Given the description of an element on the screen output the (x, y) to click on. 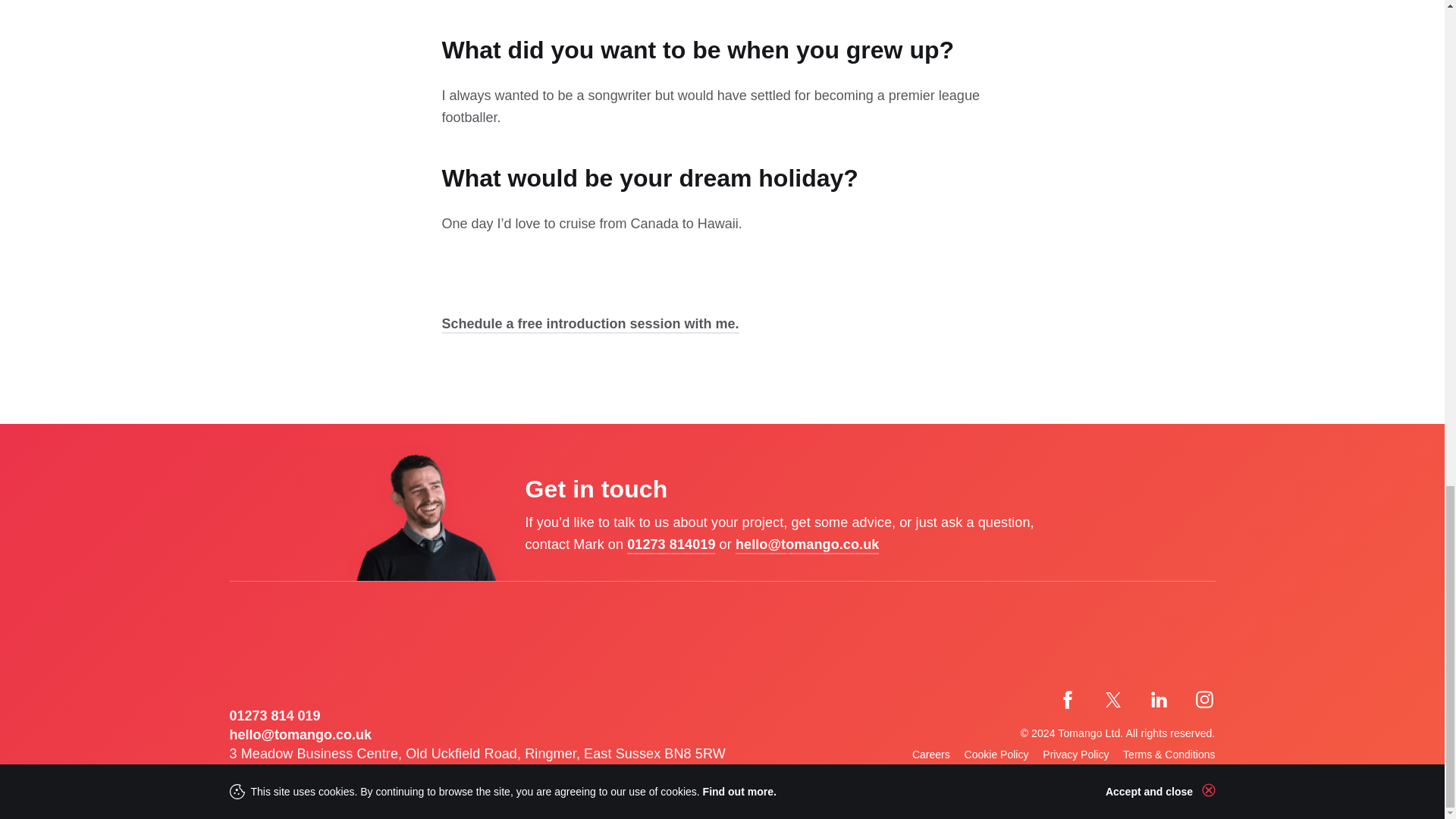
01273 814019 (670, 545)
01273 814 019 (274, 715)
Careers (931, 754)
Schedule a free introduction session with me. (589, 324)
Privacy Policy (1075, 754)
Cookie Policy (996, 754)
